Given the description of an element on the screen output the (x, y) to click on. 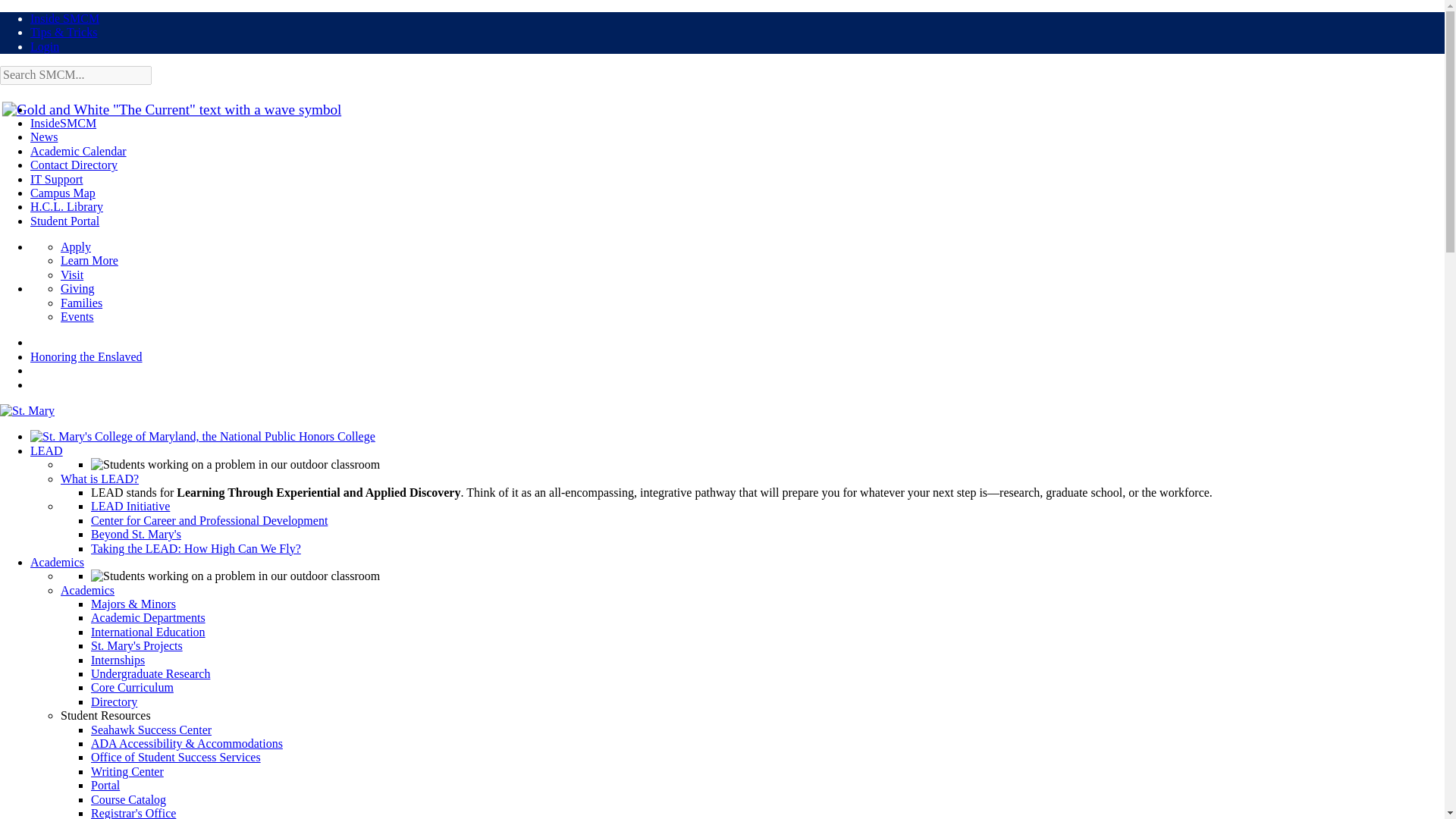
H.C.L. Library (66, 205)
Login (44, 46)
Internships (117, 659)
Families (81, 302)
IT Support (56, 178)
InsideSMCM (63, 123)
St. Mary's Projects (136, 645)
Taking the LEAD: How High Can We Fly? (195, 547)
Inside SMCM (64, 18)
Academics (57, 562)
Directory (113, 701)
Honoring the Enslaved (86, 356)
What is LEAD? (99, 478)
Site Search (75, 75)
Learn More (89, 259)
